Given the description of an element on the screen output the (x, y) to click on. 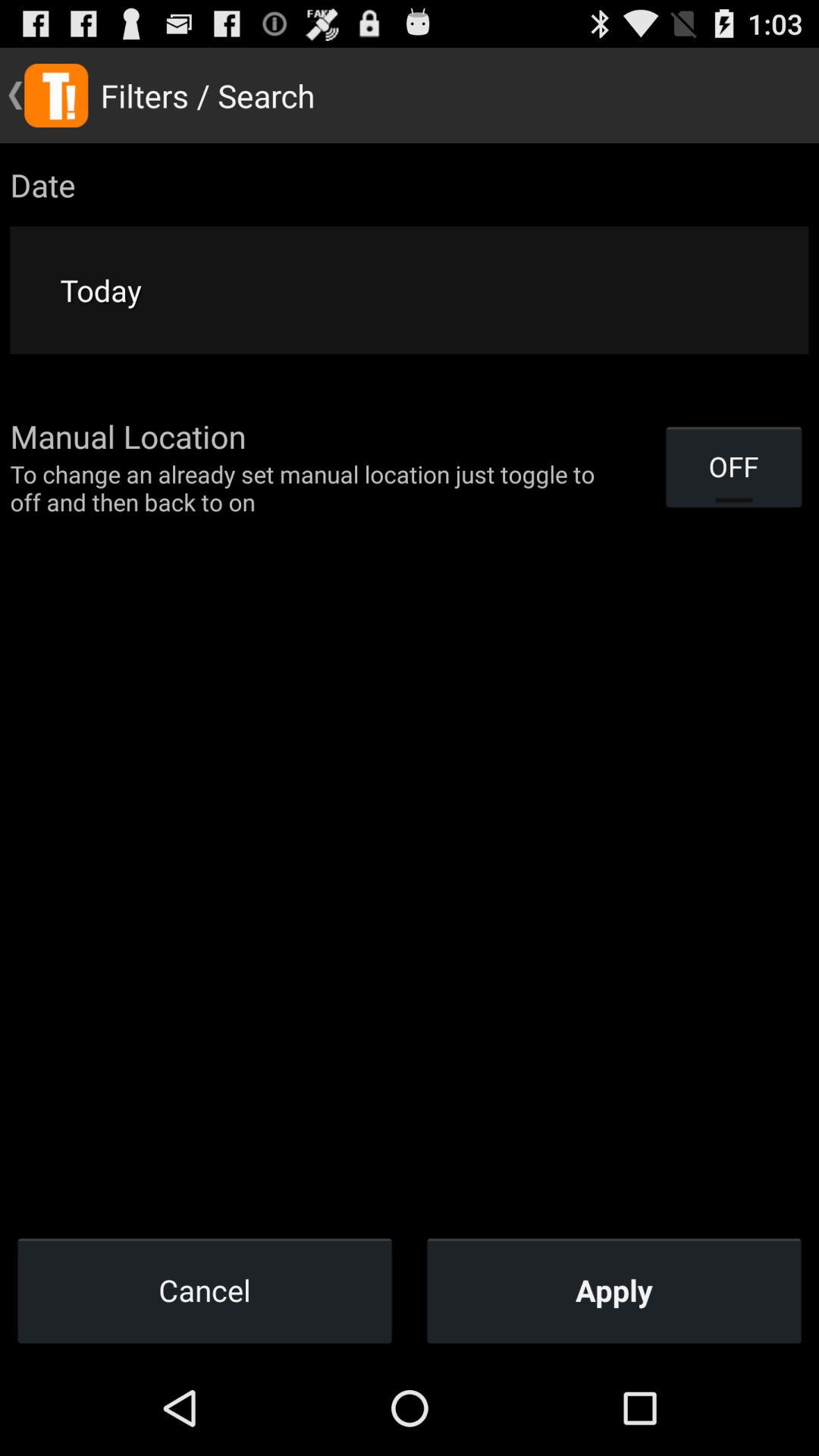
turn on button to the right of the cancel item (613, 1290)
